Given the description of an element on the screen output the (x, y) to click on. 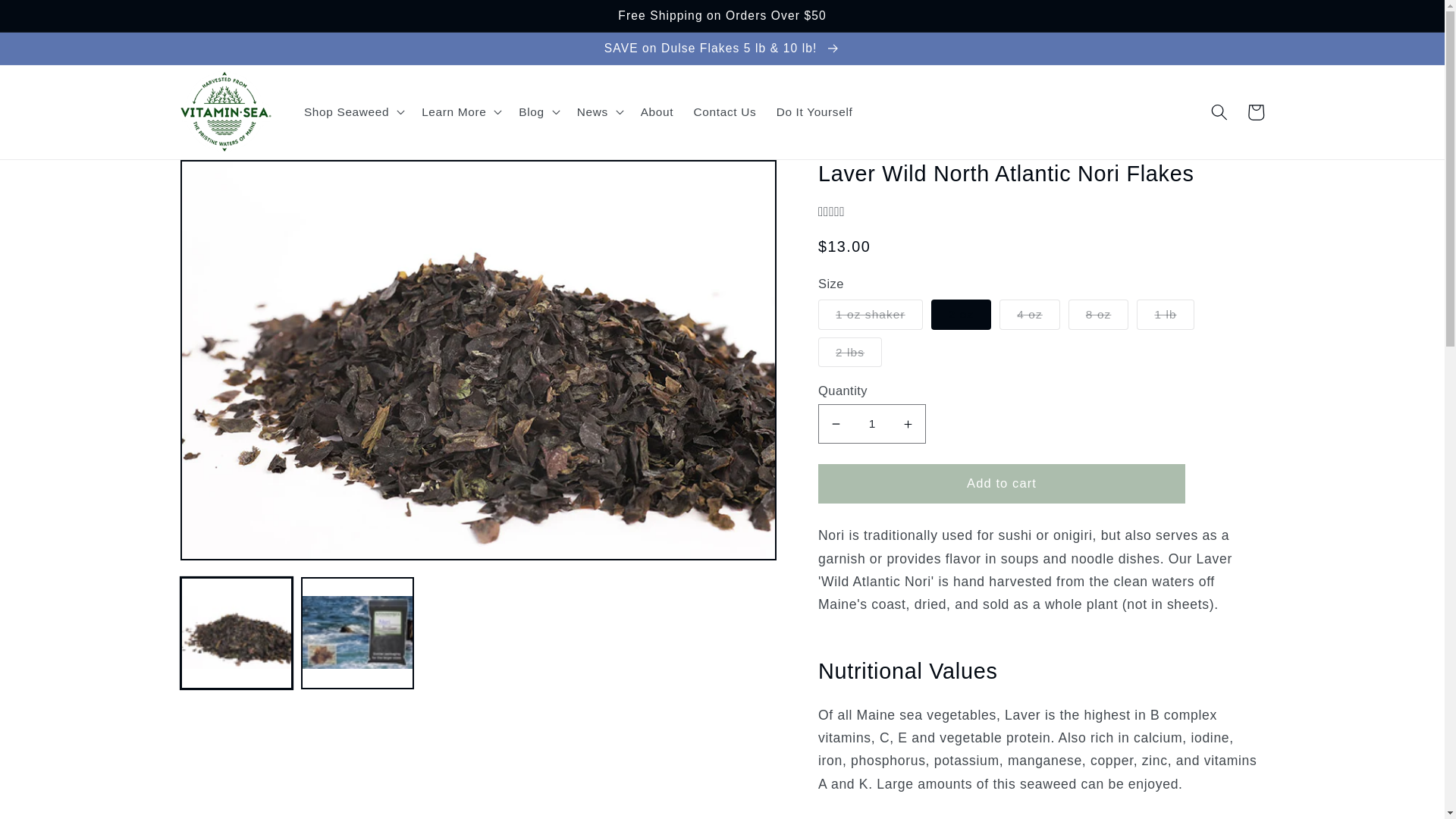
1 (872, 423)
Skip to content (50, 19)
